Given the description of an element on the screen output the (x, y) to click on. 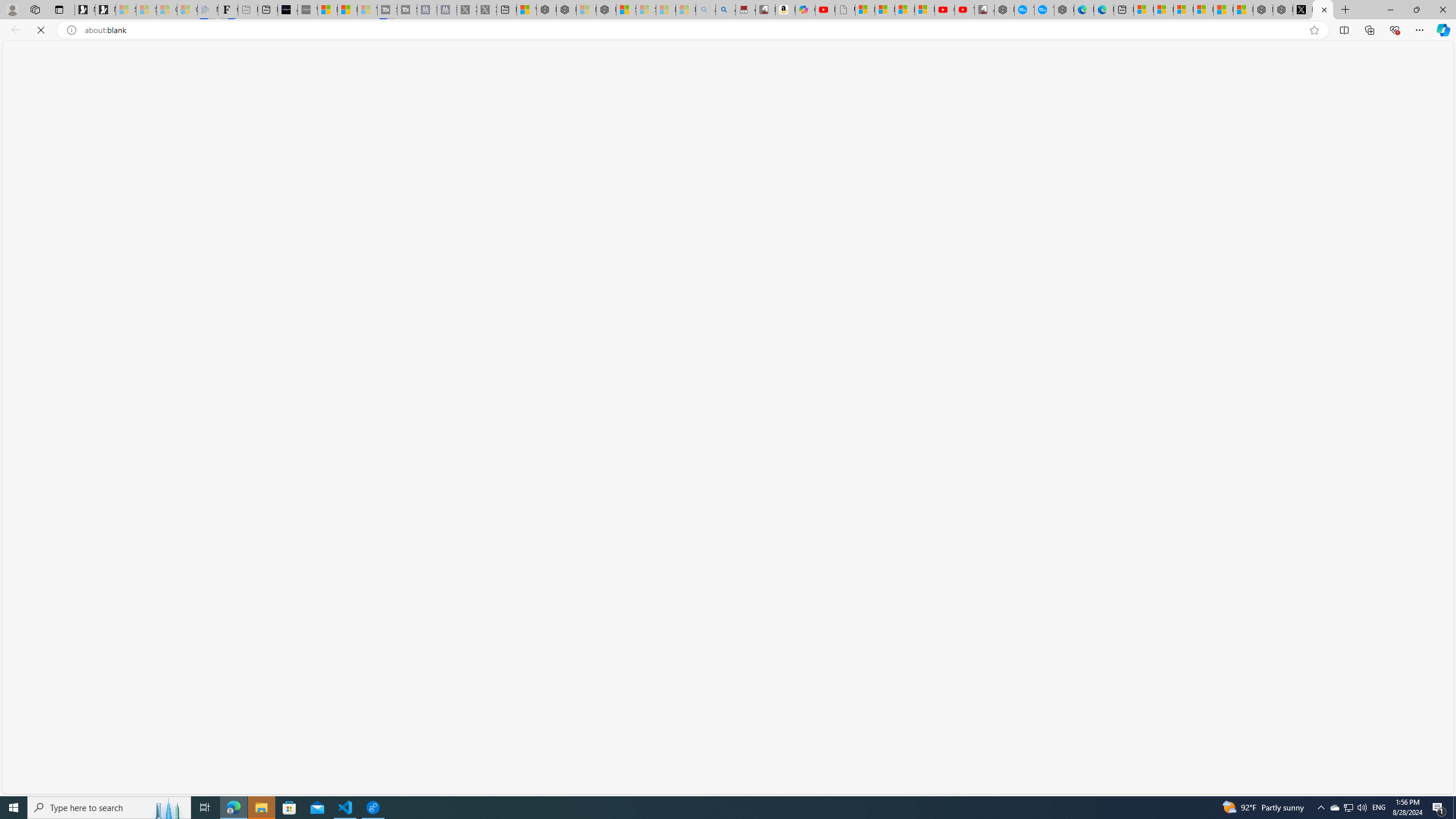
Day 1: Arriving in Yemen (surreal to be here) - YouTube (825, 9)
Amazon Echo Dot PNG - Search Images (725, 9)
Untitled (1322, 9)
Nordace - Nordace has arrived Hong Kong (1063, 9)
What's the best AI voice generator? - voice.ai - Sleeping (306, 9)
Nordace - Nordace Siena Is Not An Ordinary Backpack (606, 9)
Gloom - YouTube (944, 9)
